Given the description of an element on the screen output the (x, y) to click on. 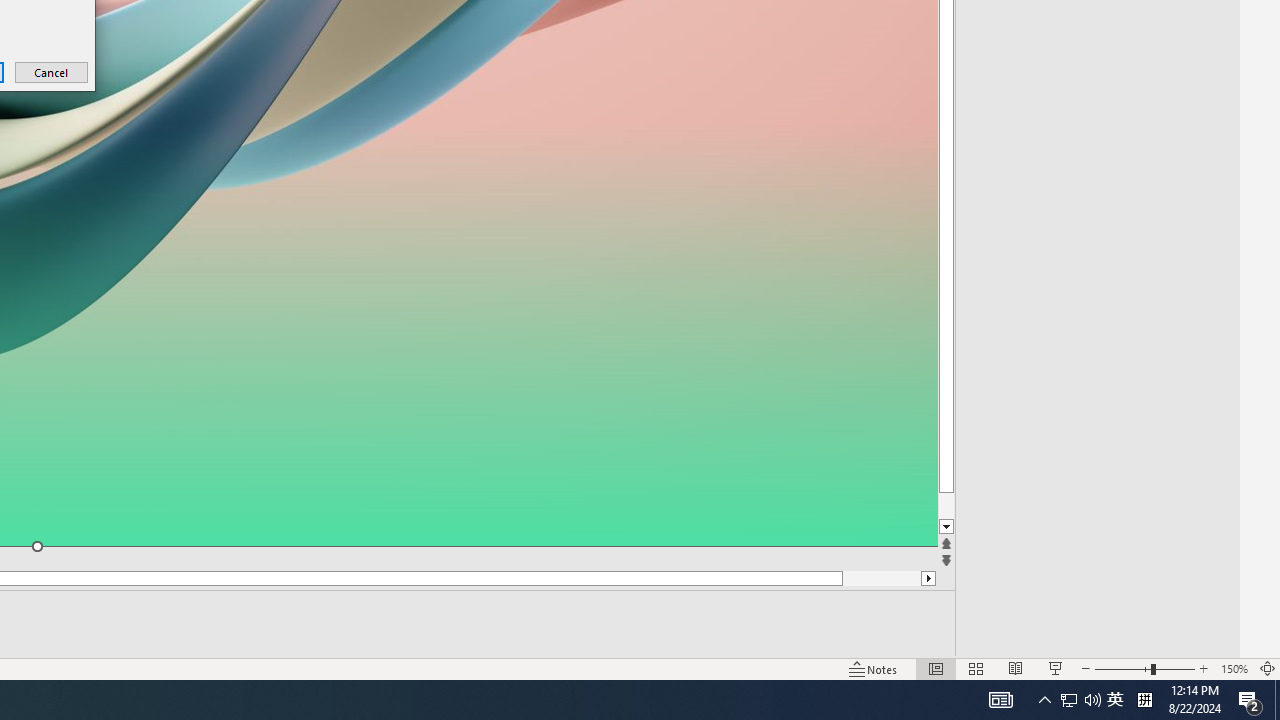
Action Center, 2 new notifications (1250, 699)
Tray Input Indicator - Chinese (Simplified, China) (1144, 699)
Cancel (51, 72)
Show desktop (1115, 699)
